Given the description of an element on the screen output the (x, y) to click on. 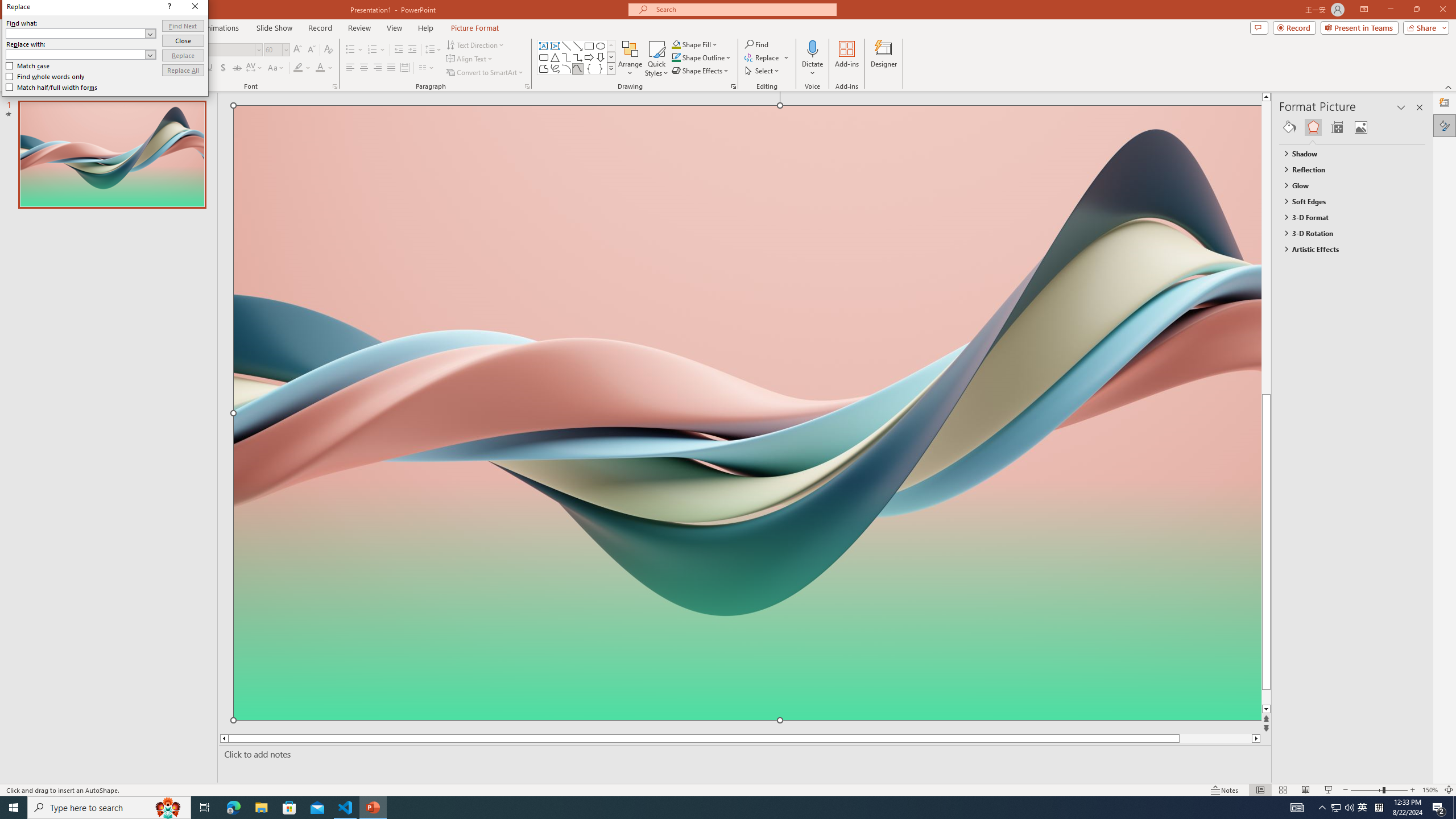
Class: NetUIGalleryContainer (1352, 126)
Format Picture (1444, 125)
Replace All (183, 69)
